Given the description of an element on the screen output the (x, y) to click on. 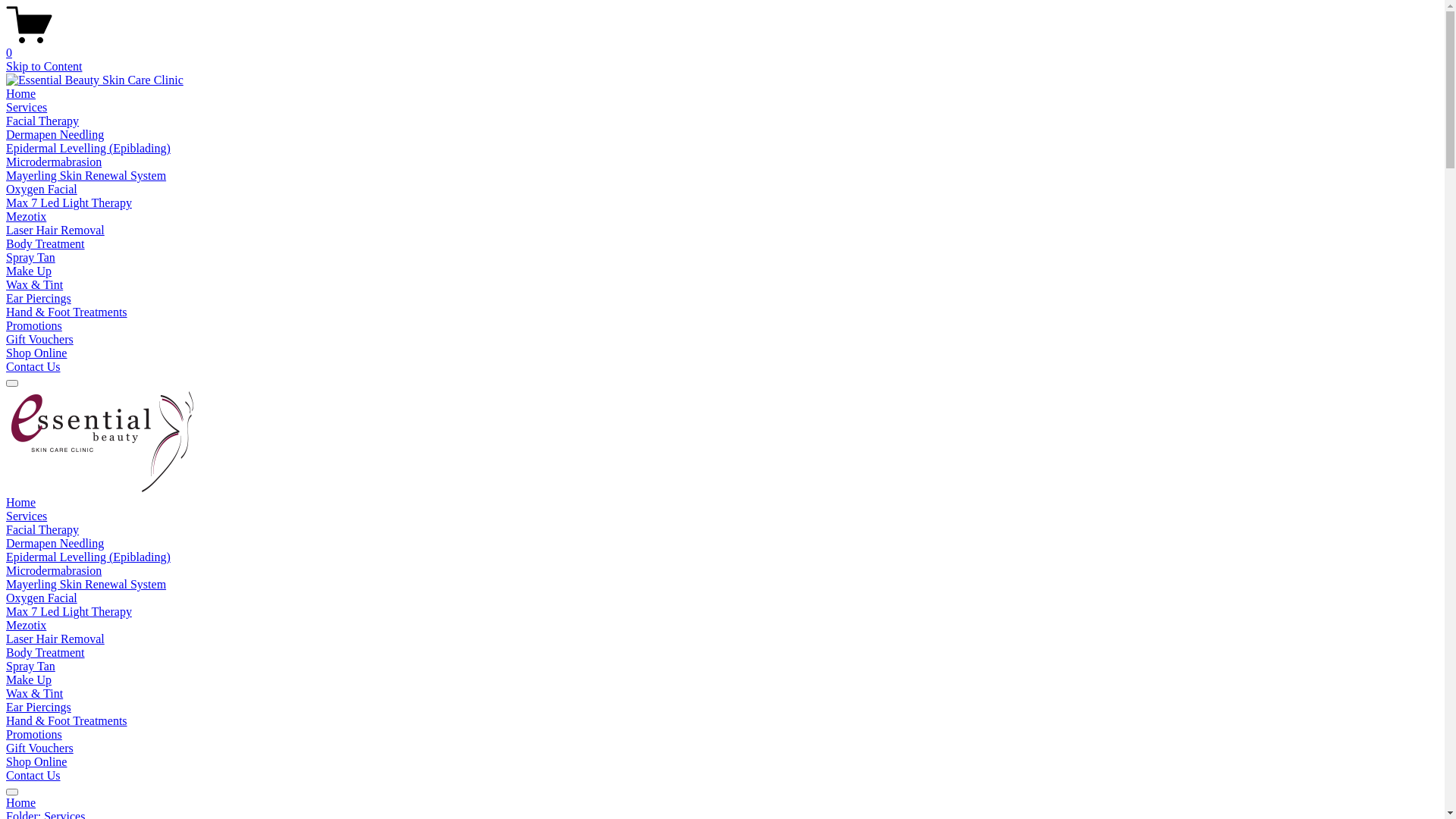
Gift Vouchers Element type: text (39, 338)
Wax & Tint Element type: text (34, 693)
Mayerling Skin Renewal System Element type: text (86, 175)
Make Up Element type: text (28, 270)
Spray Tan Element type: text (30, 257)
Oxygen Facial Element type: text (41, 597)
Services Element type: text (26, 515)
Facial Therapy Element type: text (42, 120)
Gift Vouchers Element type: text (39, 747)
0 Element type: text (722, 45)
Ear Piercings Element type: text (38, 706)
Max 7 Led Light Therapy Element type: text (68, 202)
Hand & Foot Treatments Element type: text (66, 311)
Microdermabrasion Element type: text (53, 161)
Home Element type: text (722, 802)
Microdermabrasion Element type: text (53, 570)
Spray Tan Element type: text (30, 665)
Home Element type: text (20, 501)
Contact Us Element type: text (33, 366)
Mezotix Element type: text (26, 624)
Hand & Foot Treatments Element type: text (66, 720)
Promotions Element type: text (34, 325)
Laser Hair Removal Element type: text (55, 638)
Promotions Element type: text (34, 734)
Max 7 Led Light Therapy Element type: text (68, 611)
Facial Therapy Element type: text (42, 529)
Mezotix Element type: text (26, 216)
Home Element type: text (20, 93)
Oxygen Facial Element type: text (41, 188)
Epidermal Levelling (Epiblading) Element type: text (88, 147)
Body Treatment Element type: text (45, 652)
Skip to Content Element type: text (43, 65)
Ear Piercings Element type: text (38, 297)
Services Element type: text (26, 106)
Epidermal Levelling (Epiblading) Element type: text (88, 556)
Dermapen Needling Element type: text (54, 542)
Shop Online Element type: text (36, 352)
Mayerling Skin Renewal System Element type: text (86, 583)
Dermapen Needling Element type: text (54, 134)
Shop Online Element type: text (36, 761)
Wax & Tint Element type: text (34, 284)
Body Treatment Element type: text (45, 243)
Make Up Element type: text (28, 679)
Laser Hair Removal Element type: text (55, 229)
Contact Us Element type: text (33, 774)
